Given the description of an element on the screen output the (x, y) to click on. 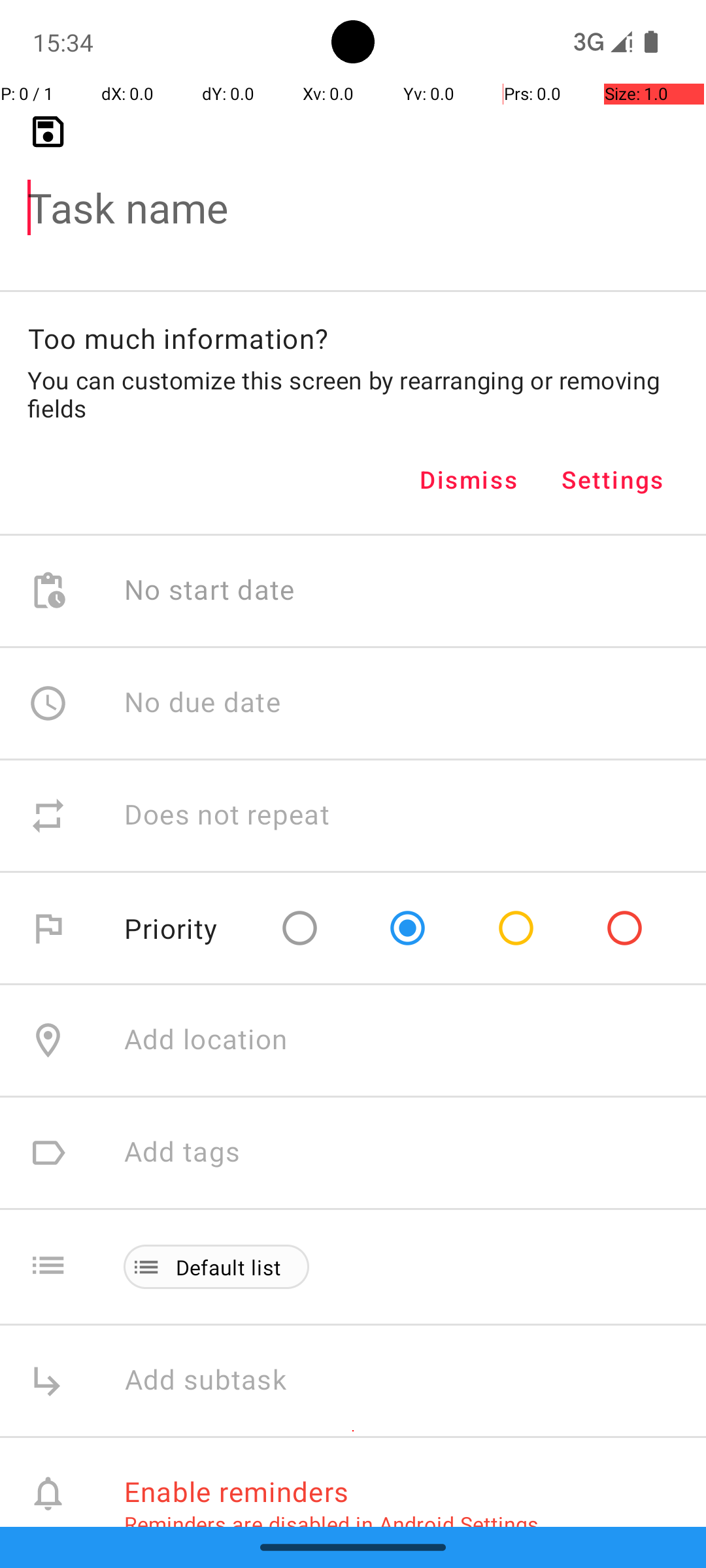
Task name Element type: android.widget.EditText (353, 186)
No due date Element type: android.widget.TextView (202, 702)
No start date Element type: android.widget.TextView (209, 590)
